Given the description of an element on the screen output the (x, y) to click on. 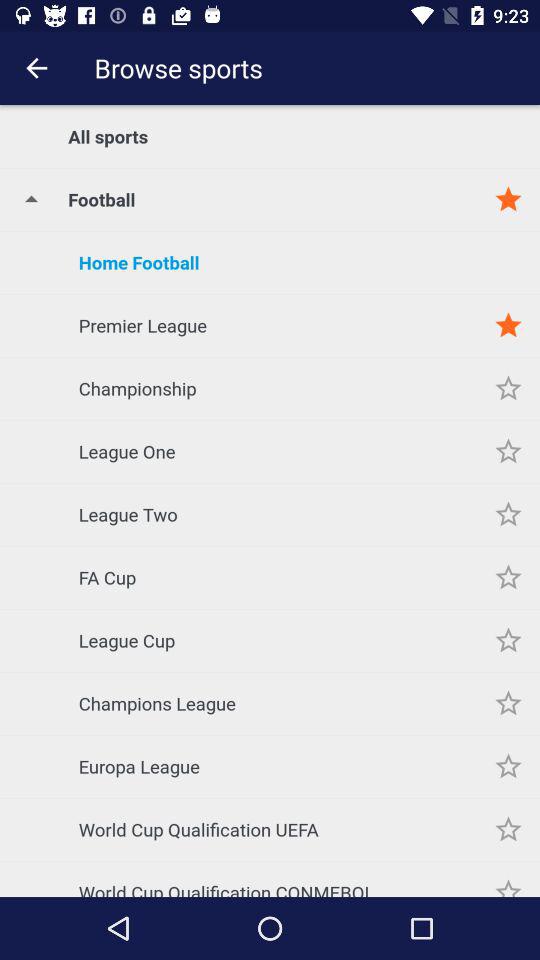
mark as favorite (508, 766)
